Given the description of an element on the screen output the (x, y) to click on. 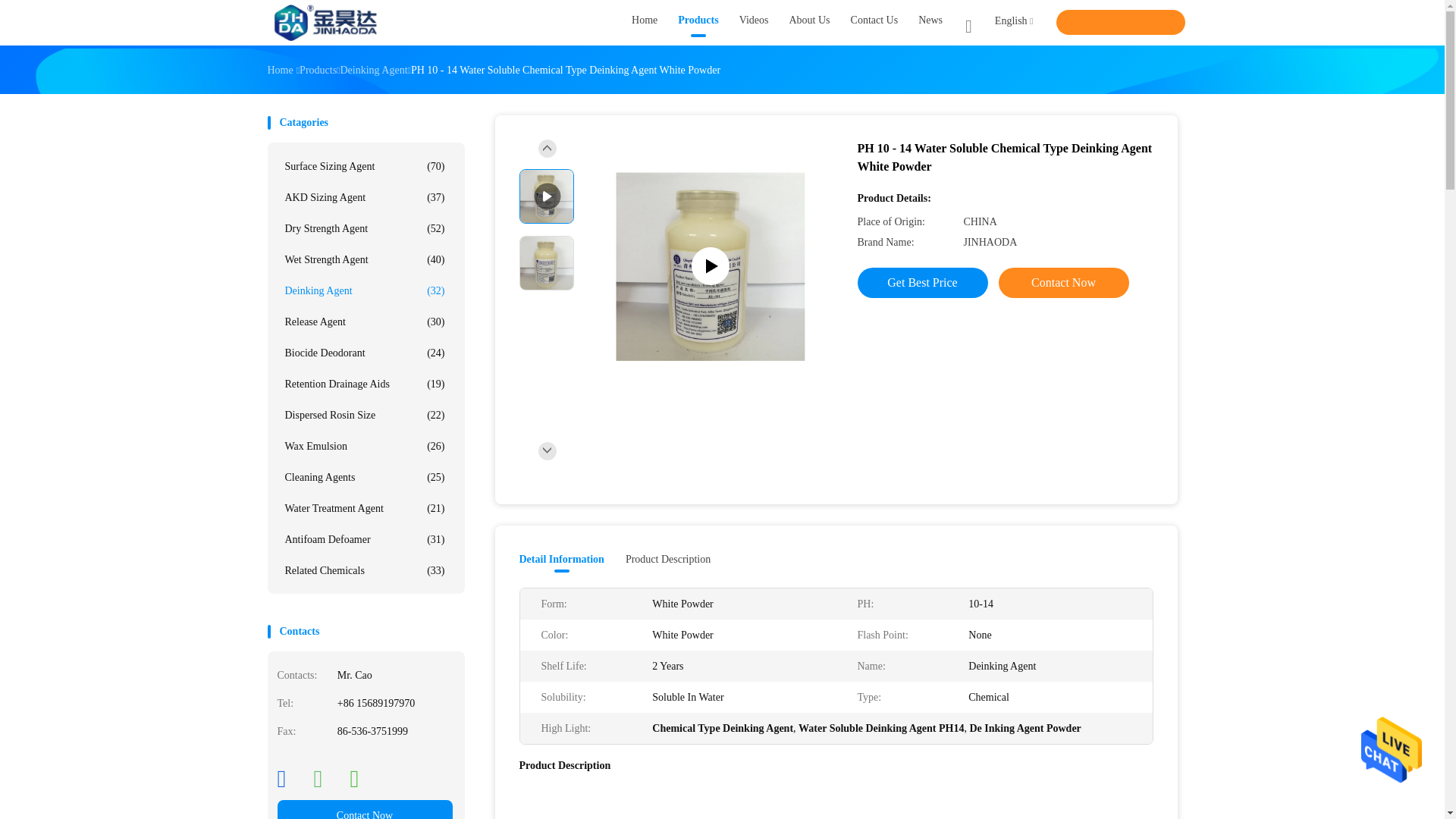
News (930, 22)
QINGZHOU JINHAO NEW MATERIAL CO.,LTD (326, 22)
Videos (753, 22)
Products (697, 22)
About Us (809, 22)
Contact Us (874, 22)
Home (644, 22)
